Given the description of an element on the screen output the (x, y) to click on. 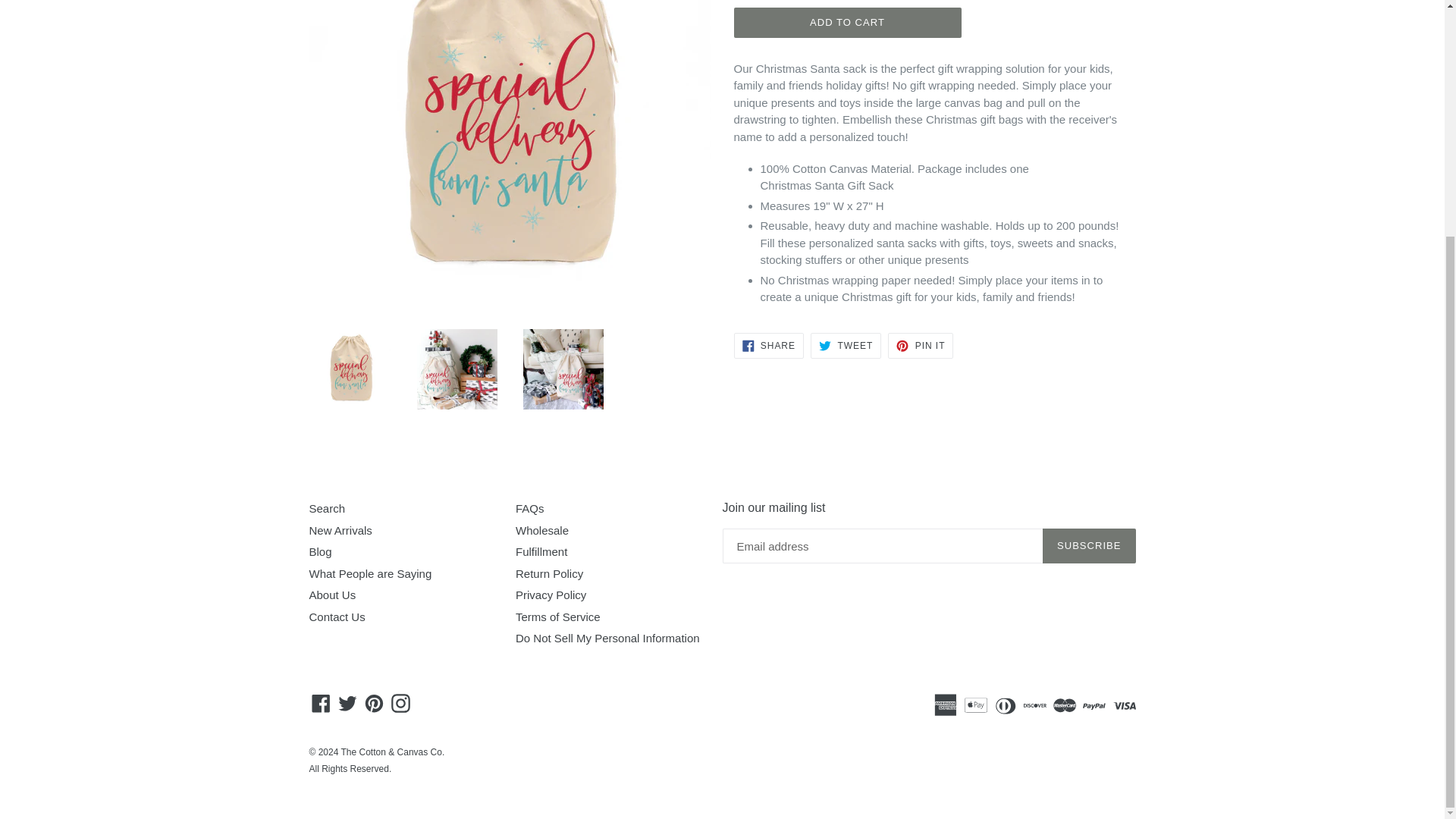
Share on Facebook (768, 345)
Tweet on Twitter (845, 345)
Pin on Pinterest (920, 345)
